Given the description of an element on the screen output the (x, y) to click on. 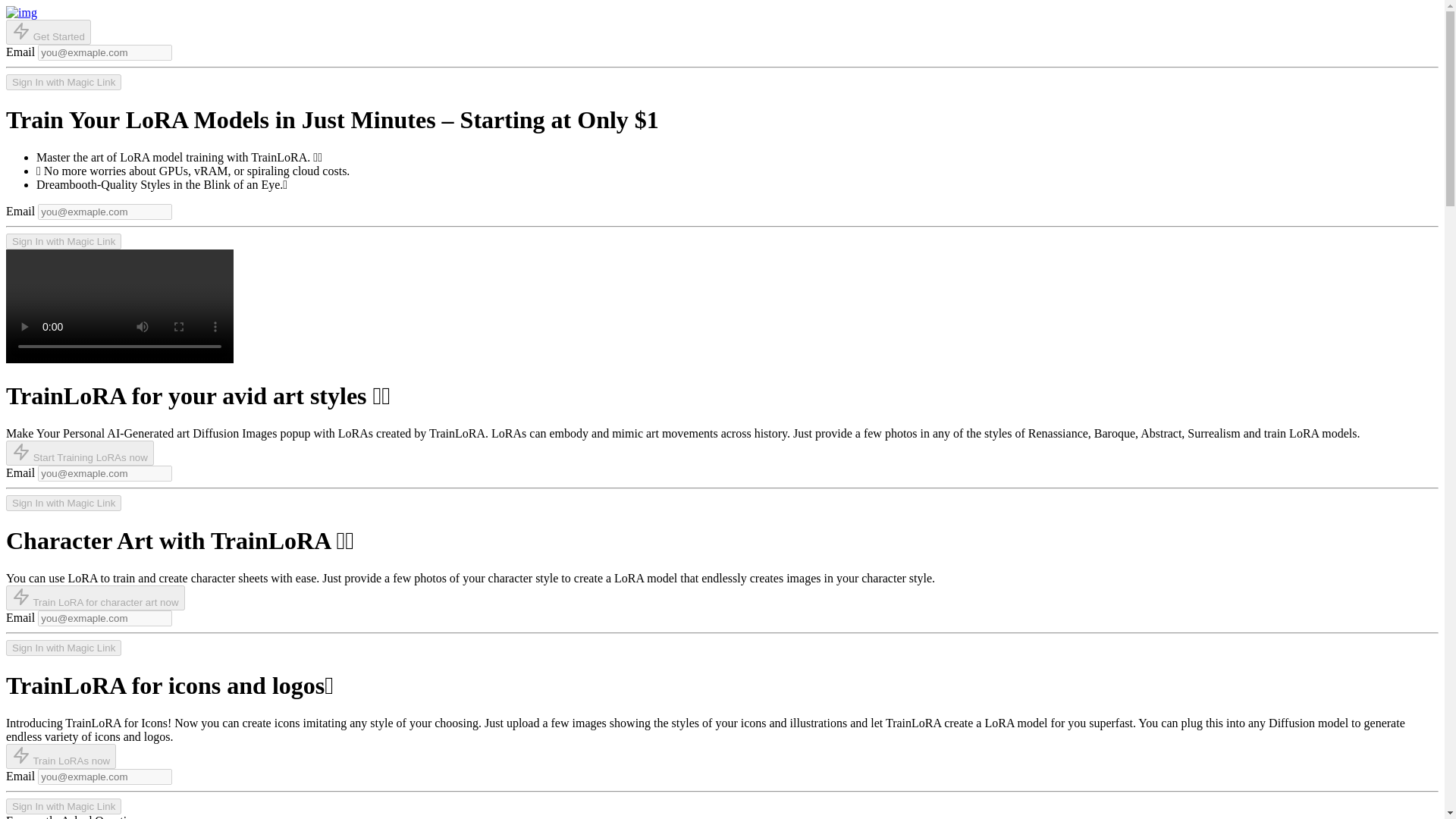
Sign In with Magic Link (62, 647)
Sign In with Magic Link (62, 241)
Start Training LoRAs now (79, 453)
Sign In with Magic Link (62, 805)
Sign In with Magic Link (62, 503)
Train LoRAs now (60, 755)
Get Started (47, 32)
Train LoRA for character art now (94, 597)
Sign In with Magic Link (62, 82)
